Given the description of an element on the screen output the (x, y) to click on. 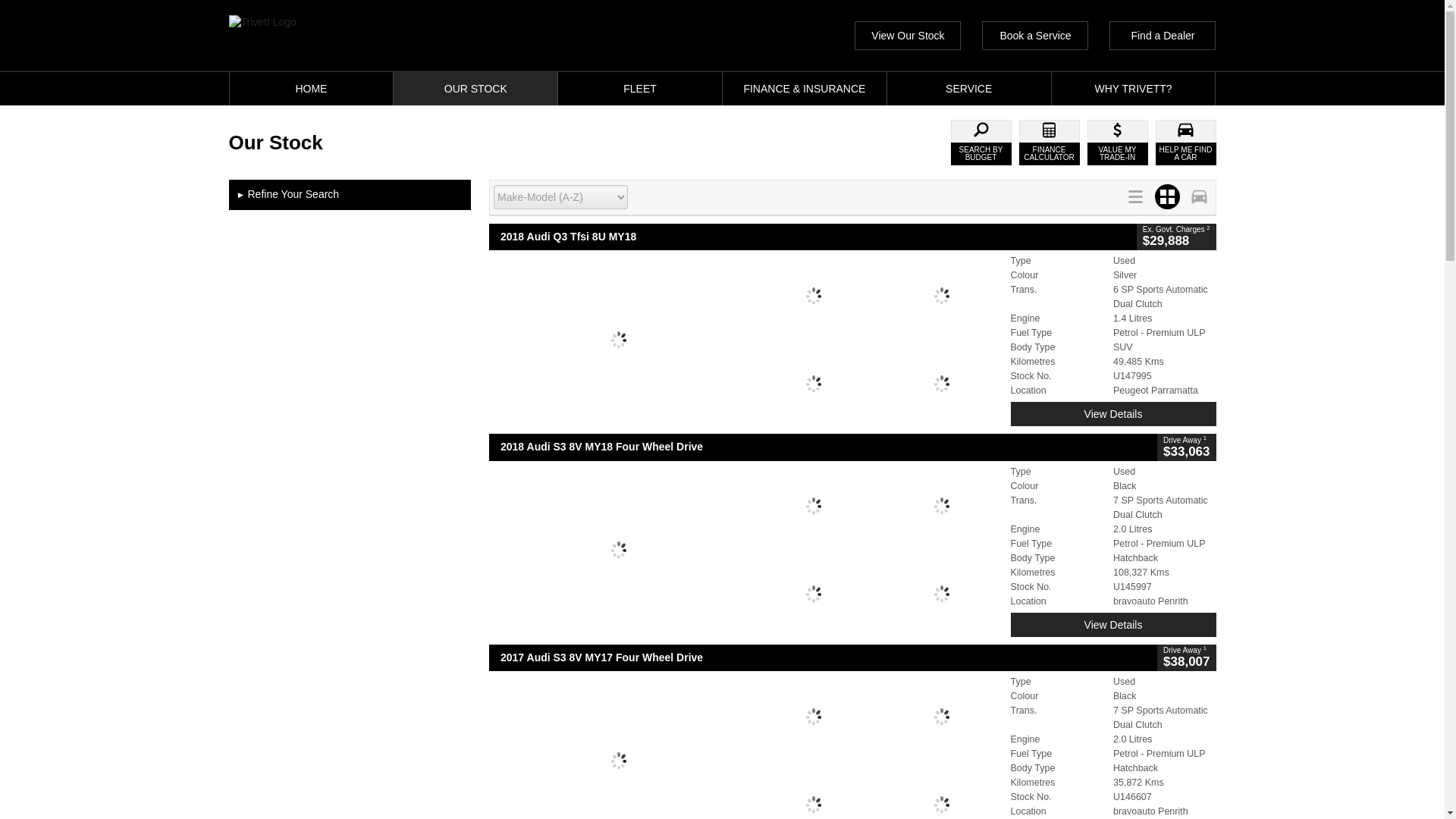
Why Trivett? (1133, 88)
View Our Stock (907, 35)
Our Stock (475, 88)
2018 Audi Q3 TFSI 8U MY18 Silver (746, 339)
Fleet (639, 88)
Find a Dealer (1162, 35)
SERVICE (968, 88)
2018 Audi S3  8V MY18 Four Wheel Drive (823, 447)
OUR STOCK (475, 88)
WHY TRIVETT? (1133, 88)
Service (968, 88)
SEARCH BY BUDGET (980, 142)
Book a Service (1034, 35)
FLEET (639, 88)
HOME (310, 88)
